Given the description of an element on the screen output the (x, y) to click on. 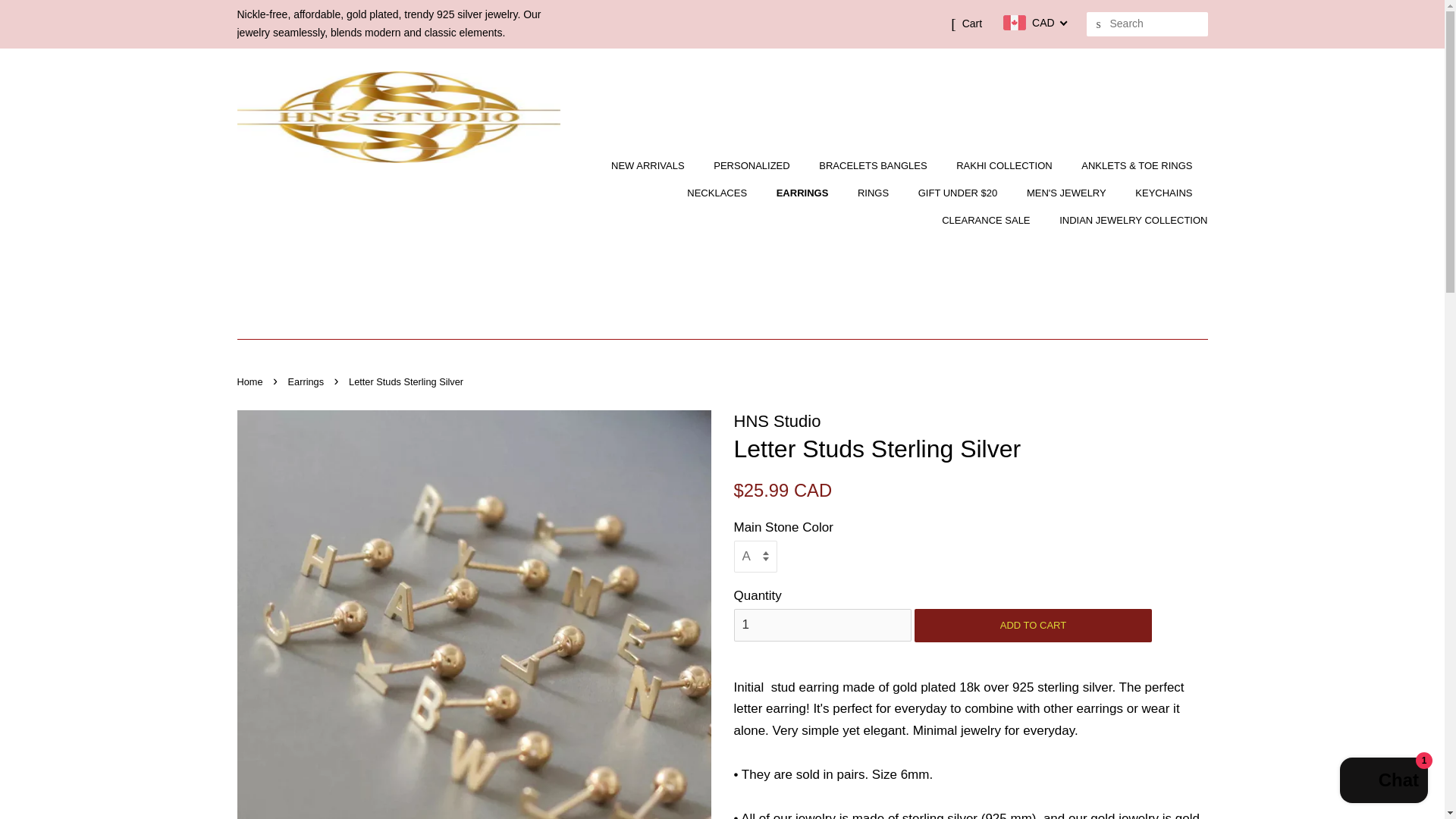
KEYCHAINS (1165, 193)
BRACELETS BANGLES (875, 165)
SEARCH (1097, 24)
EARRINGS (804, 193)
Back to the frontpage (250, 381)
Shopify online store chat (1383, 781)
CLEARANCE SALE (987, 220)
1 (822, 624)
INDIAN JEWELRY COLLECTION (1127, 220)
PERSONALIZED (753, 165)
NEW ARRIVALS (655, 165)
Home (250, 381)
MEN'S JEWELRY (1067, 193)
RAKHI COLLECTION (1005, 165)
Cart (971, 24)
